Given the description of an element on the screen output the (x, y) to click on. 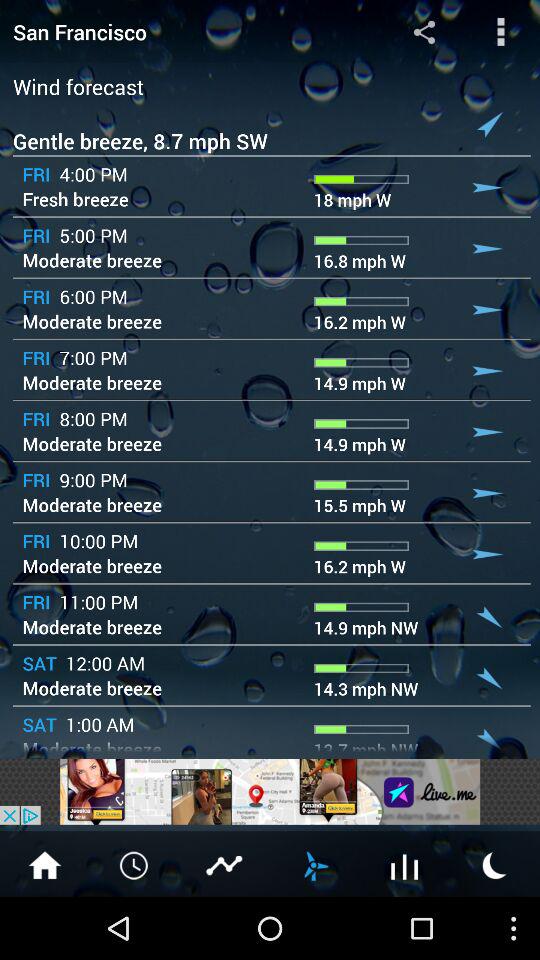
know about the advertisement (270, 791)
